Given the description of an element on the screen output the (x, y) to click on. 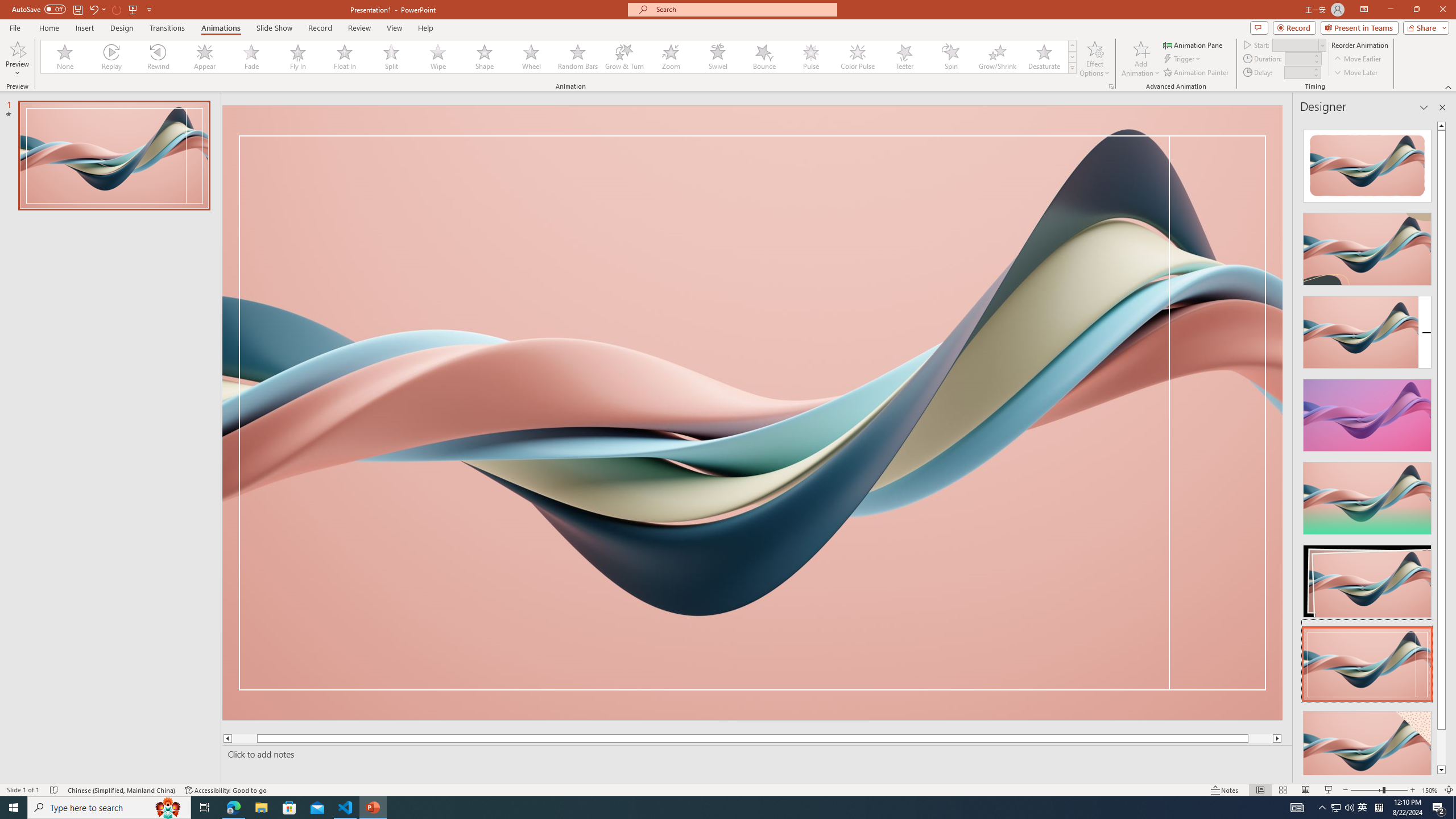
Animation Duration (1298, 58)
Grow & Turn (624, 56)
Spin (950, 56)
Animation Delay (1297, 72)
Add Animation (1141, 58)
